Given the description of an element on the screen output the (x, y) to click on. 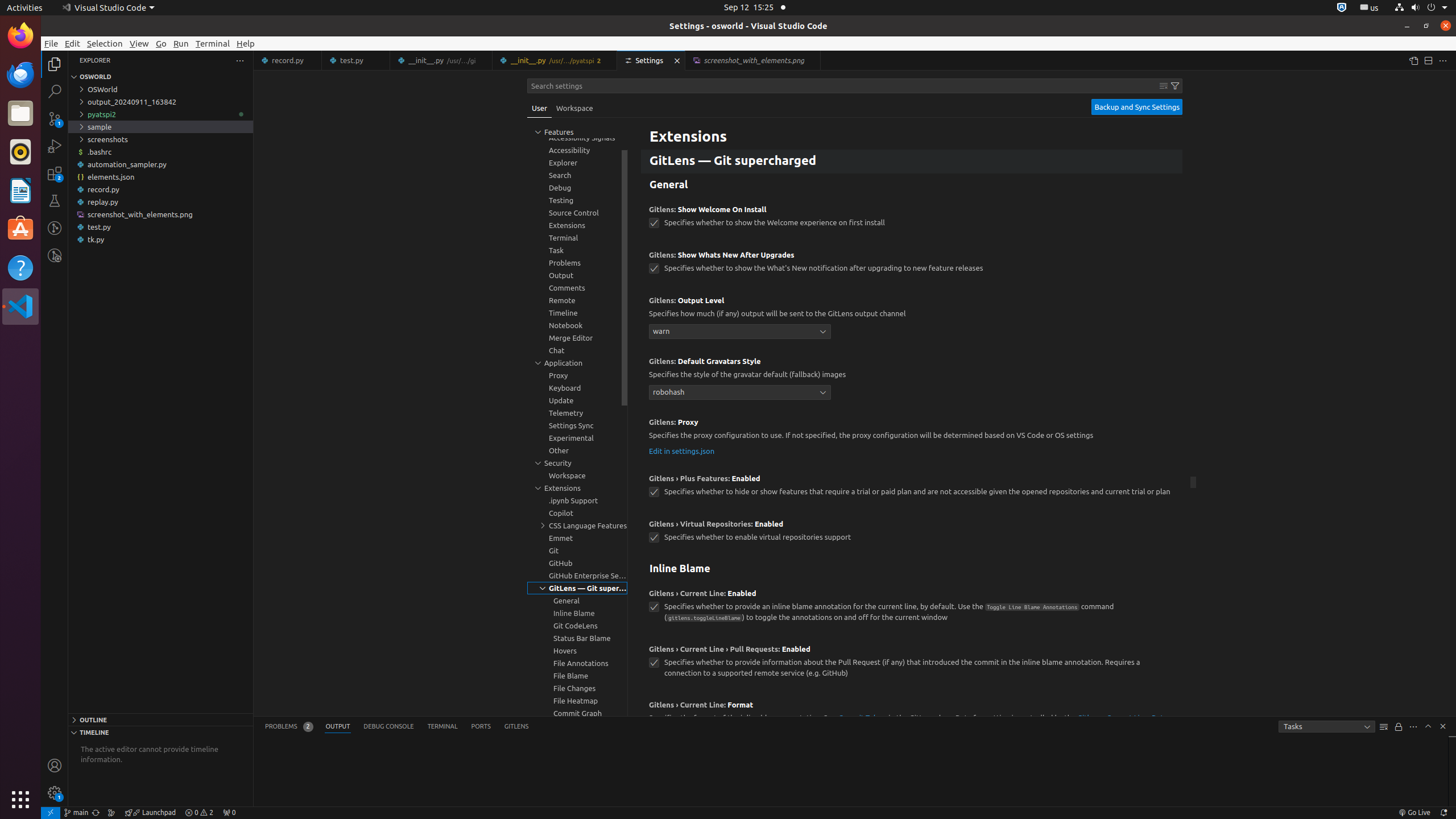
File Annotations, group Element type: tree-item (577, 662)
Close (Ctrl+W) Element type: push-button (812, 60)
